Given the description of an element on the screen output the (x, y) to click on. 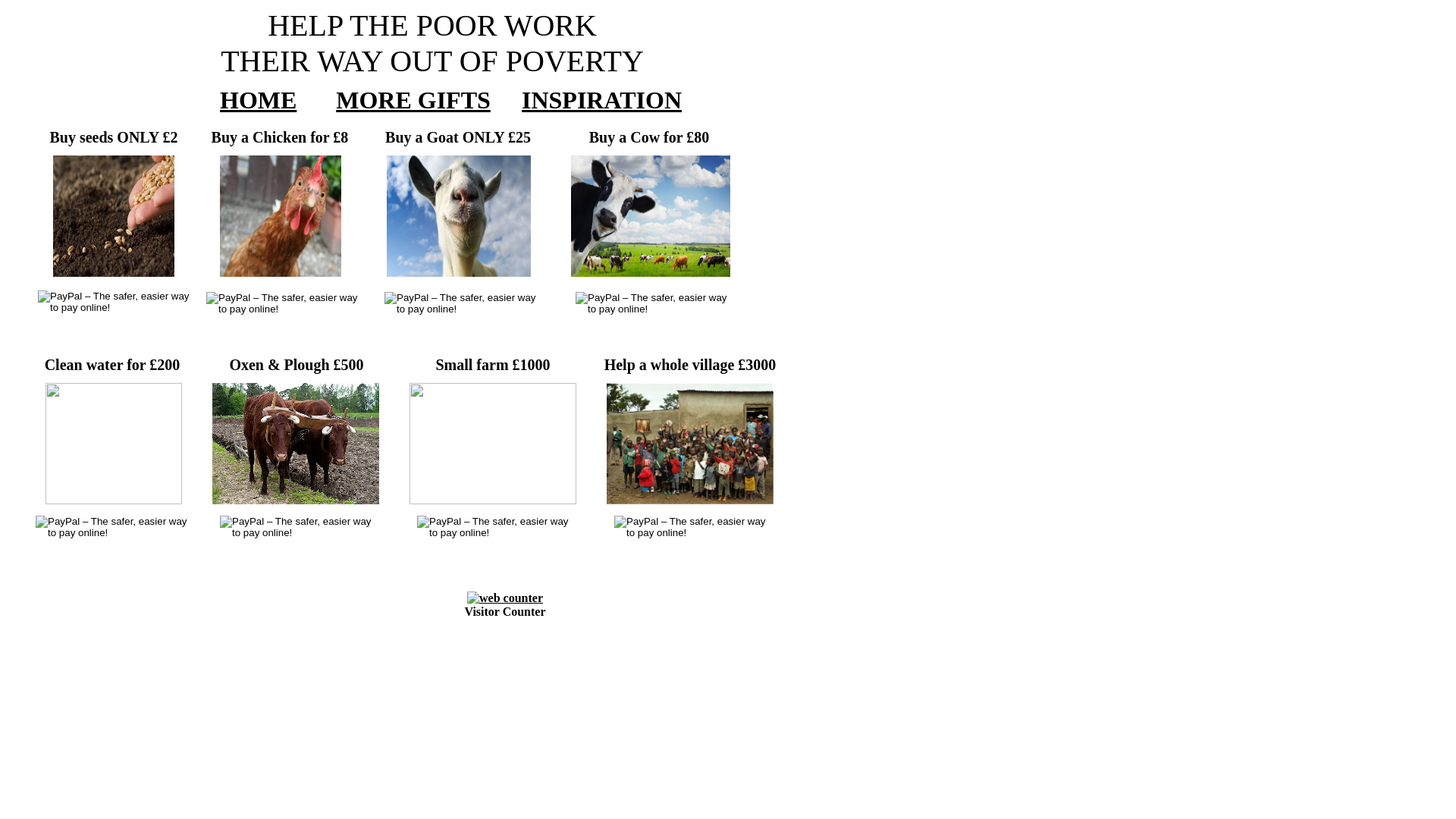
MORE GIFTS Element type: text (412, 99)
INSPIRATION Element type: text (601, 99)
HOME Element type: text (257, 99)
Visitor Counter Element type: text (504, 611)
